Given the description of an element on the screen output the (x, y) to click on. 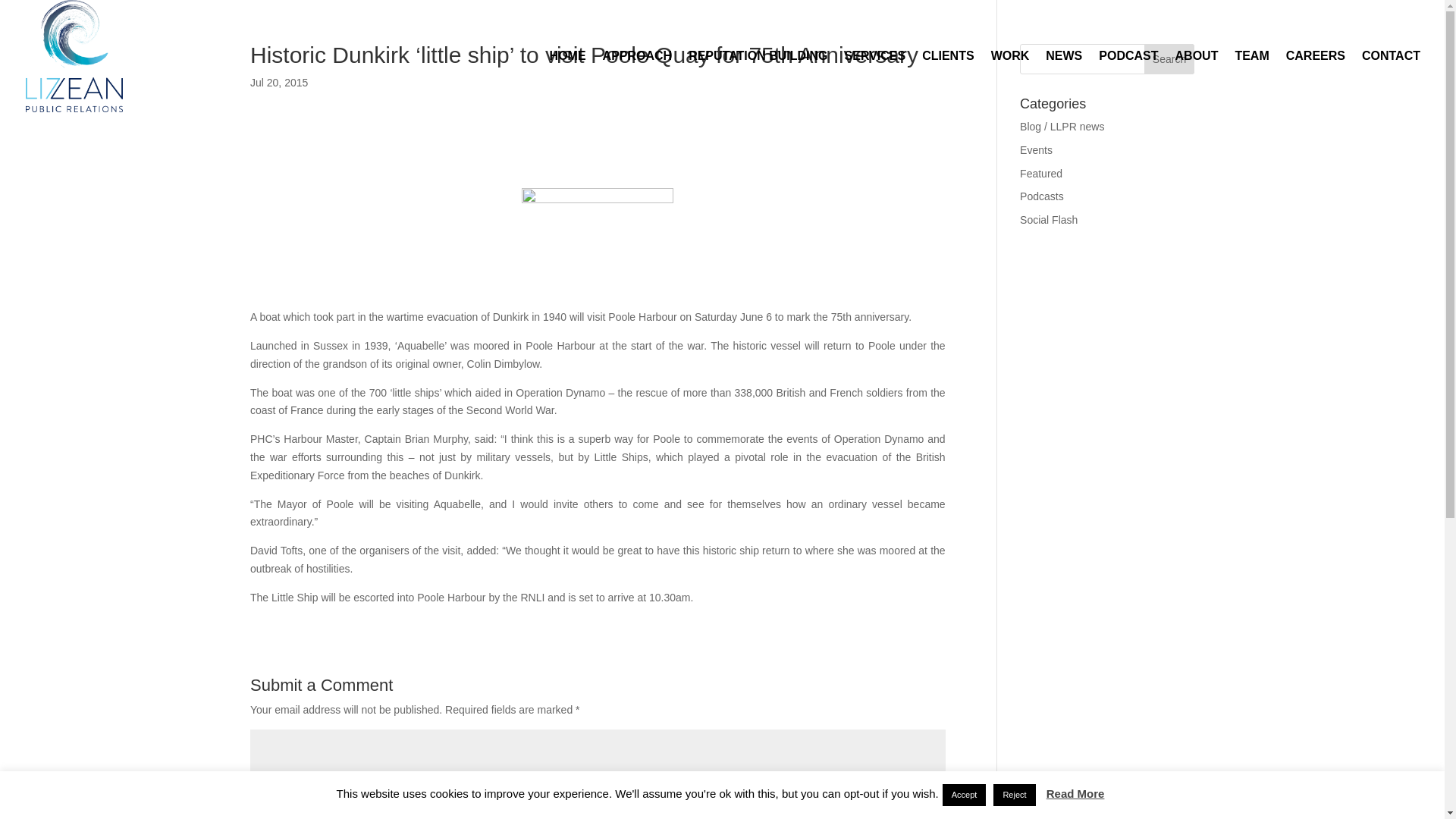
Podcasts (1042, 196)
APPROACH (637, 81)
CONTACT (1391, 81)
Search (1168, 59)
Social Flash (1048, 219)
SERVICES (874, 81)
CAREERS (1315, 81)
PODCAST (1128, 81)
Featured (1041, 173)
Events (1036, 150)
